Given the description of an element on the screen output the (x, y) to click on. 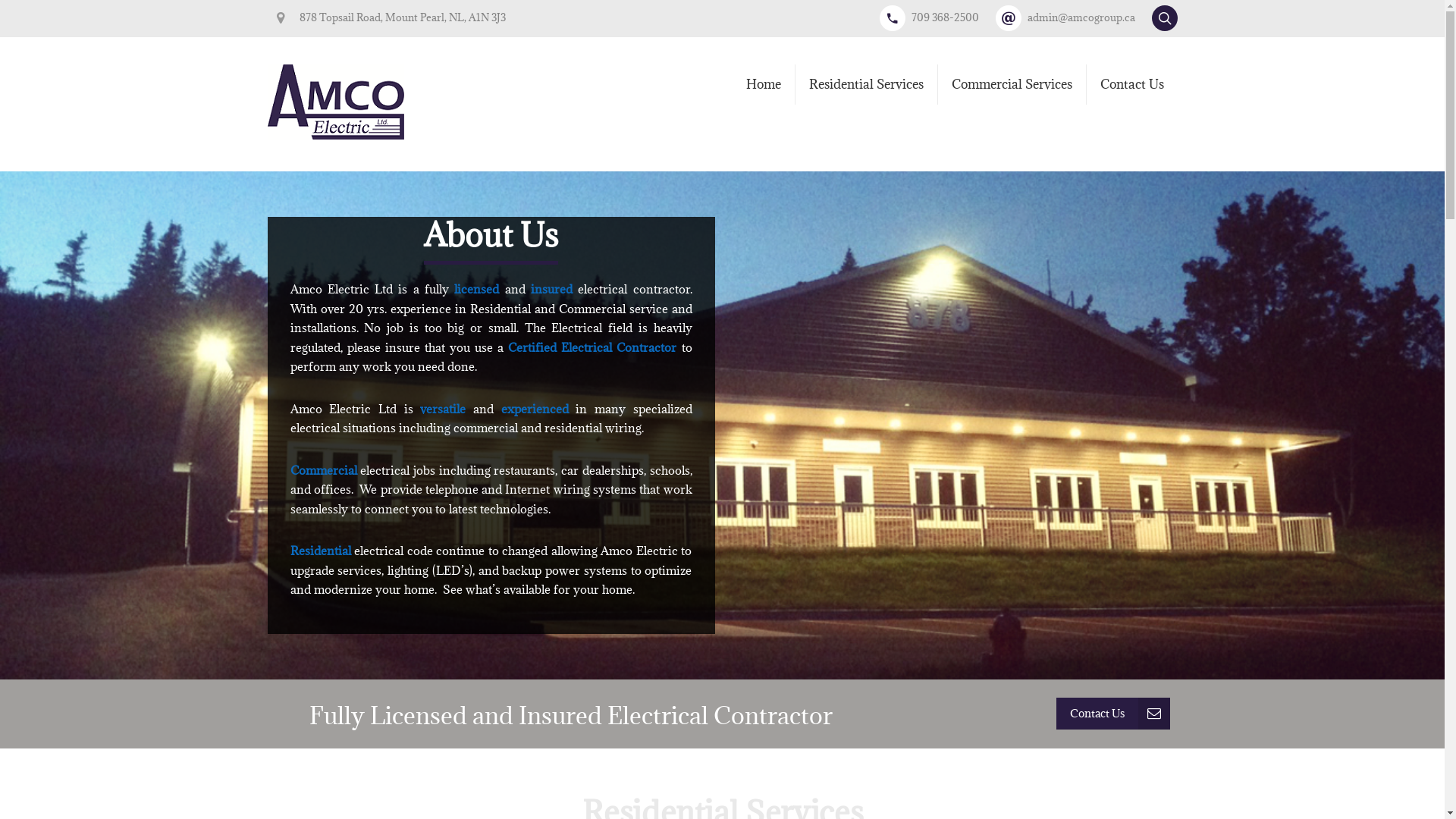
709 368-2500 Element type: text (935, 17)
admin@amcogroup.ca Element type: text (1071, 17)
Commercial Services Element type: text (1011, 84)
Home Element type: text (763, 84)
Contact Us Element type: text (1130, 84)
878 Topsail Road, Mount Pearl, NL, A1N 3J3 Element type: text (392, 17)
Contact Us Element type: text (1112, 713)
Residential Services Element type: text (865, 84)
